Given the description of an element on the screen output the (x, y) to click on. 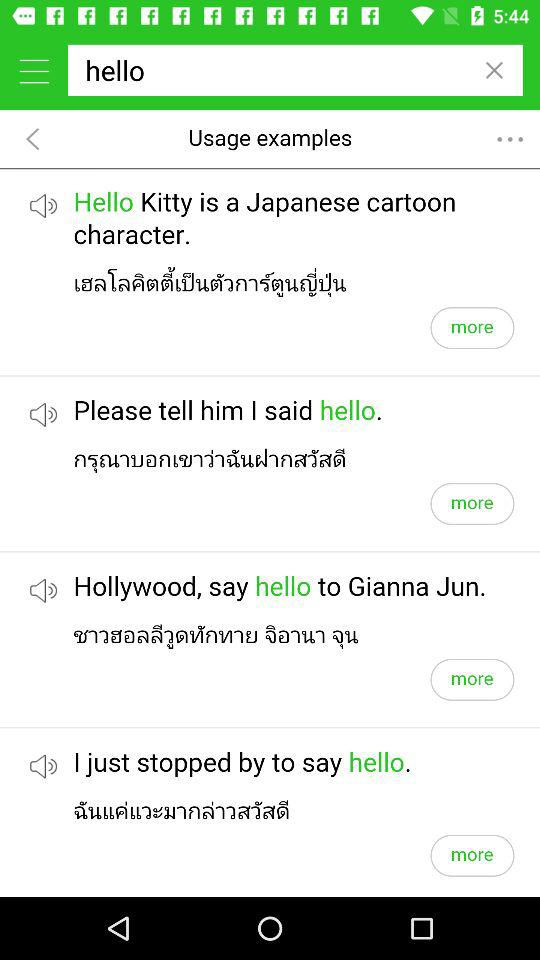
list selection (33, 70)
